Given the description of an element on the screen output the (x, y) to click on. 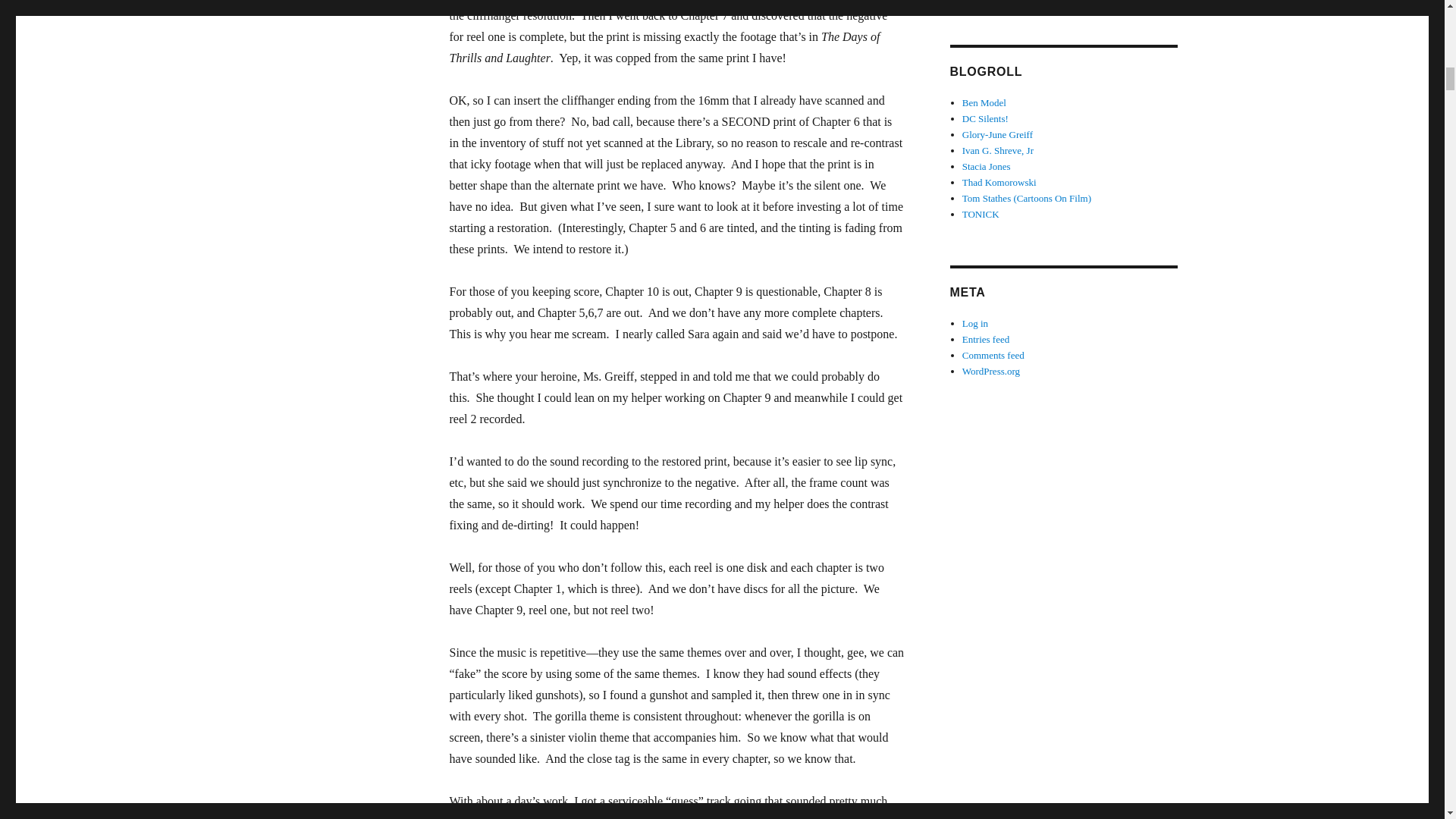
Thrilling Days of Yesteryear (997, 150)
She Blogged by Night (986, 165)
Nice animation blog (999, 182)
Another blog about vintage cartoons (1026, 197)
